Given the description of an element on the screen output the (x, y) to click on. 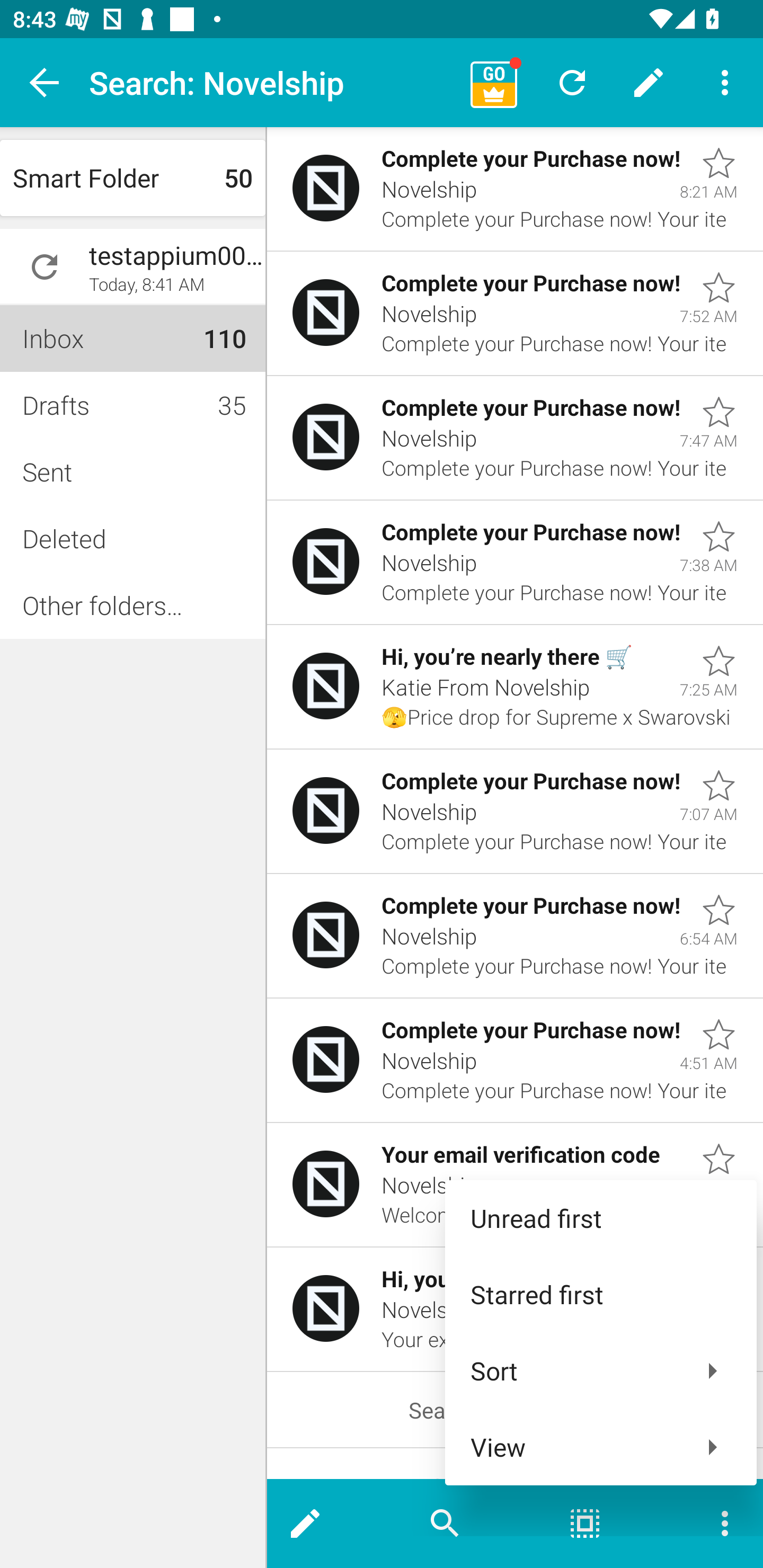
Unread first (600, 1217)
Starred first (600, 1293)
Sort (600, 1370)
View (600, 1446)
